Given the description of an element on the screen output the (x, y) to click on. 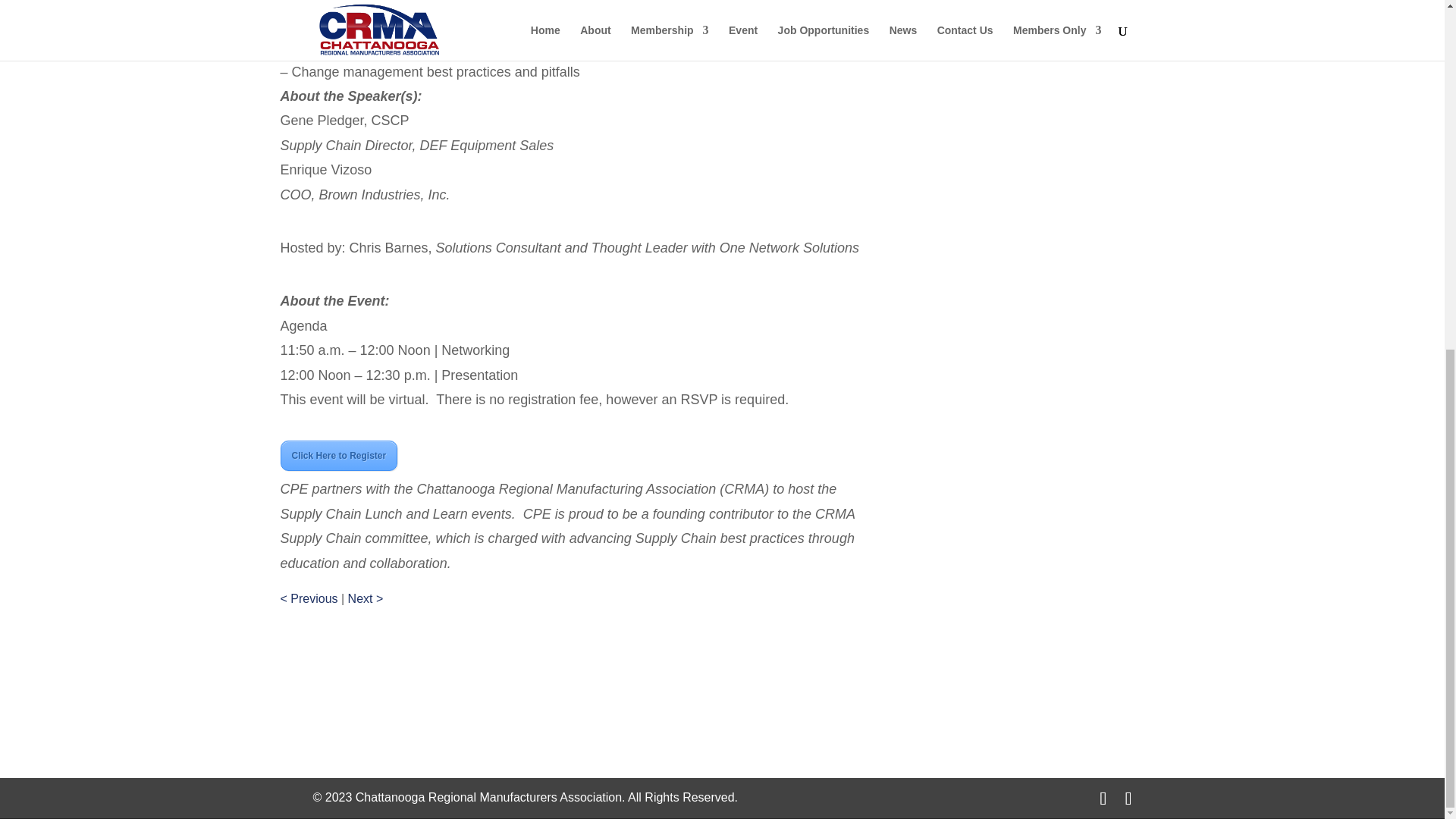
Click Here to Register (339, 455)
